Given the description of an element on the screen output the (x, y) to click on. 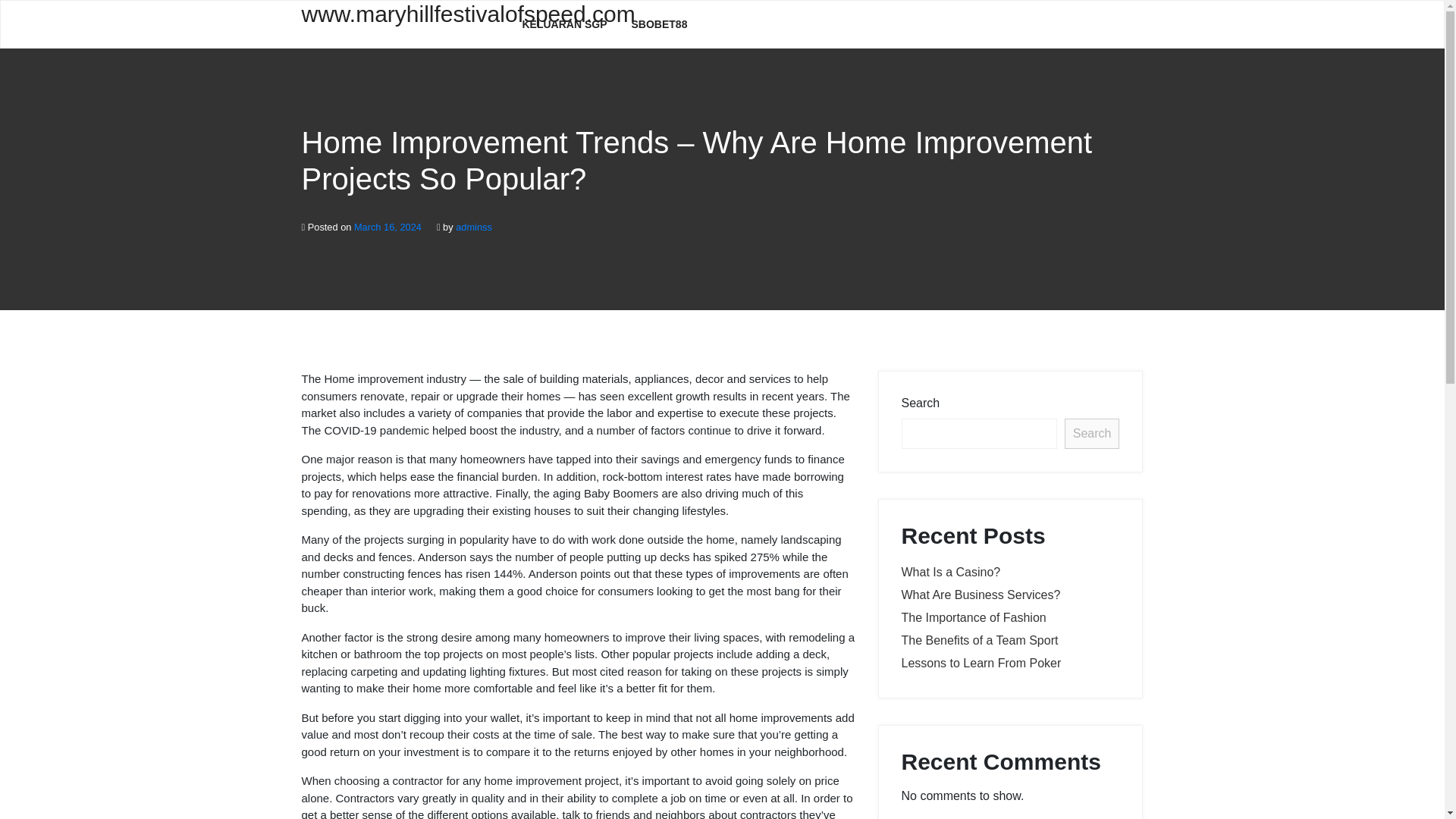
What Are Business Services? (980, 594)
What Is a Casino? (950, 571)
www.maryhillfestivalofspeed.com (400, 22)
Search (1091, 433)
The Importance of Fashion (973, 617)
adminss (473, 226)
March 16, 2024 (387, 226)
SBOBET88 (660, 23)
SBOBET88 (660, 23)
keluaran sgp (563, 23)
